Given the description of an element on the screen output the (x, y) to click on. 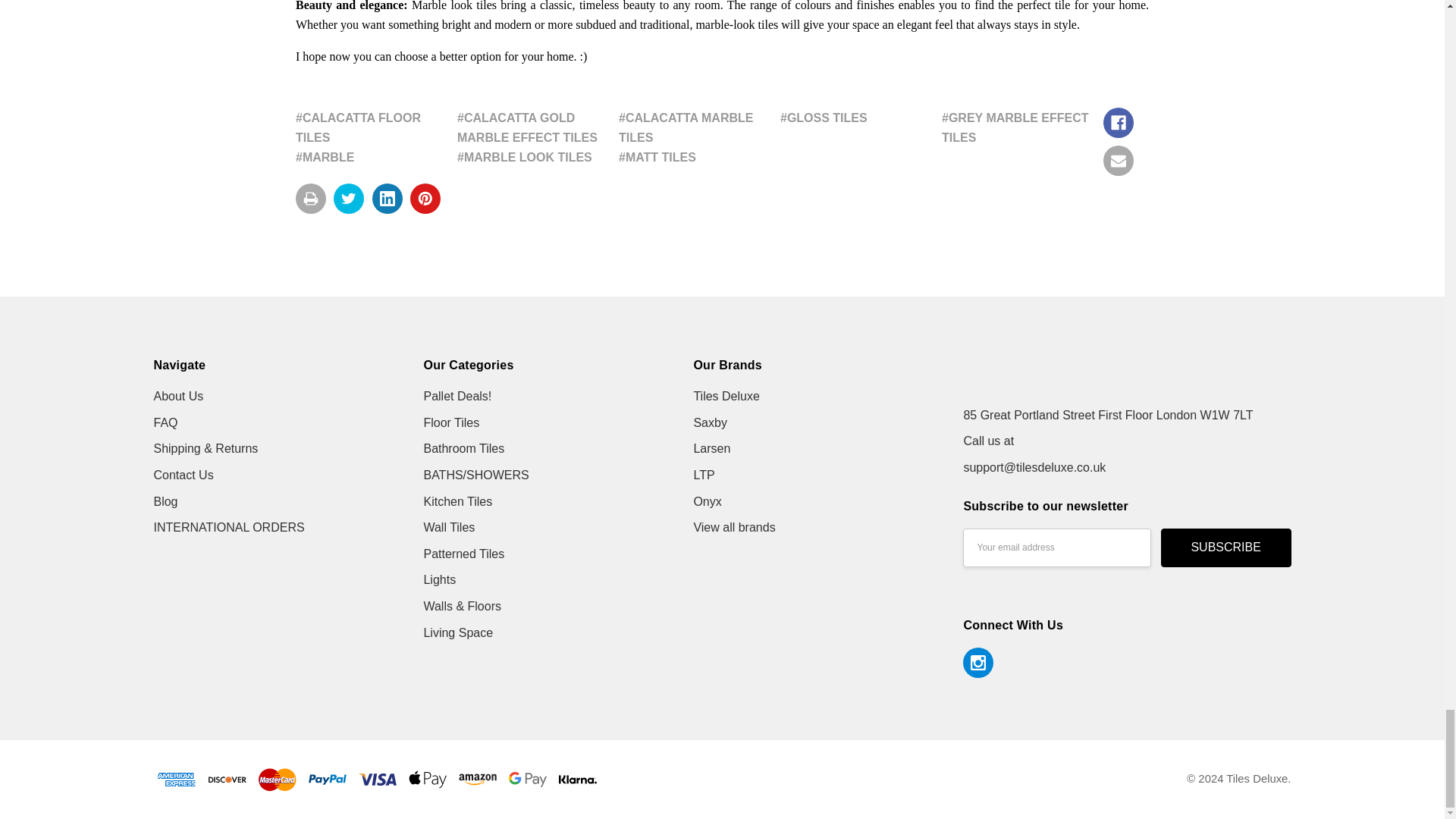
Twitter (348, 198)
Print (310, 198)
Tiles Deluxe (1057, 374)
Email (1118, 160)
Pinterest (425, 198)
Linkedin (387, 198)
Subscribe (1225, 547)
Facebook (1118, 122)
